Given the description of an element on the screen output the (x, y) to click on. 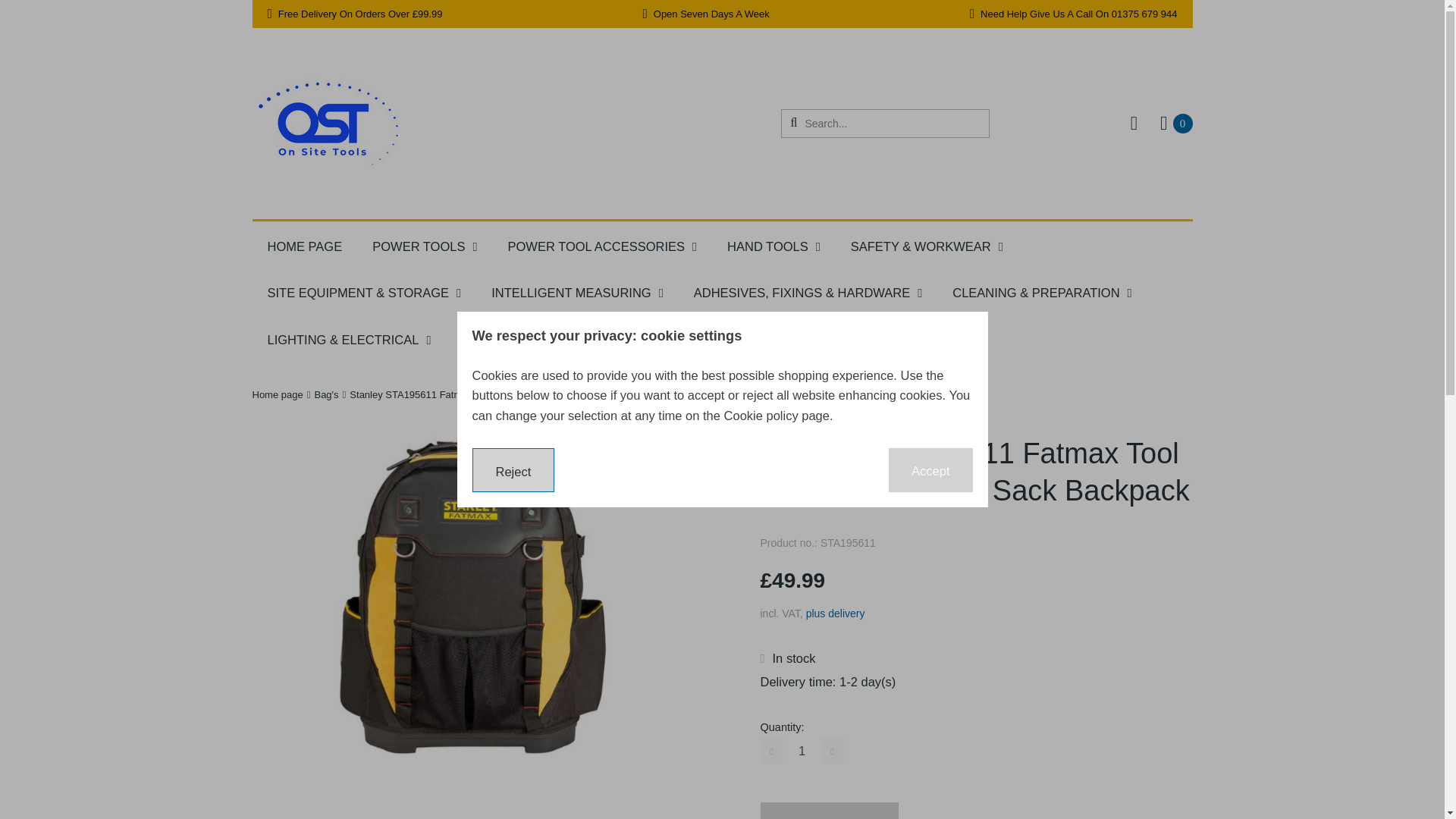
1 (1176, 123)
Search (802, 750)
On Site Tools (793, 122)
